Given the description of an element on the screen output the (x, y) to click on. 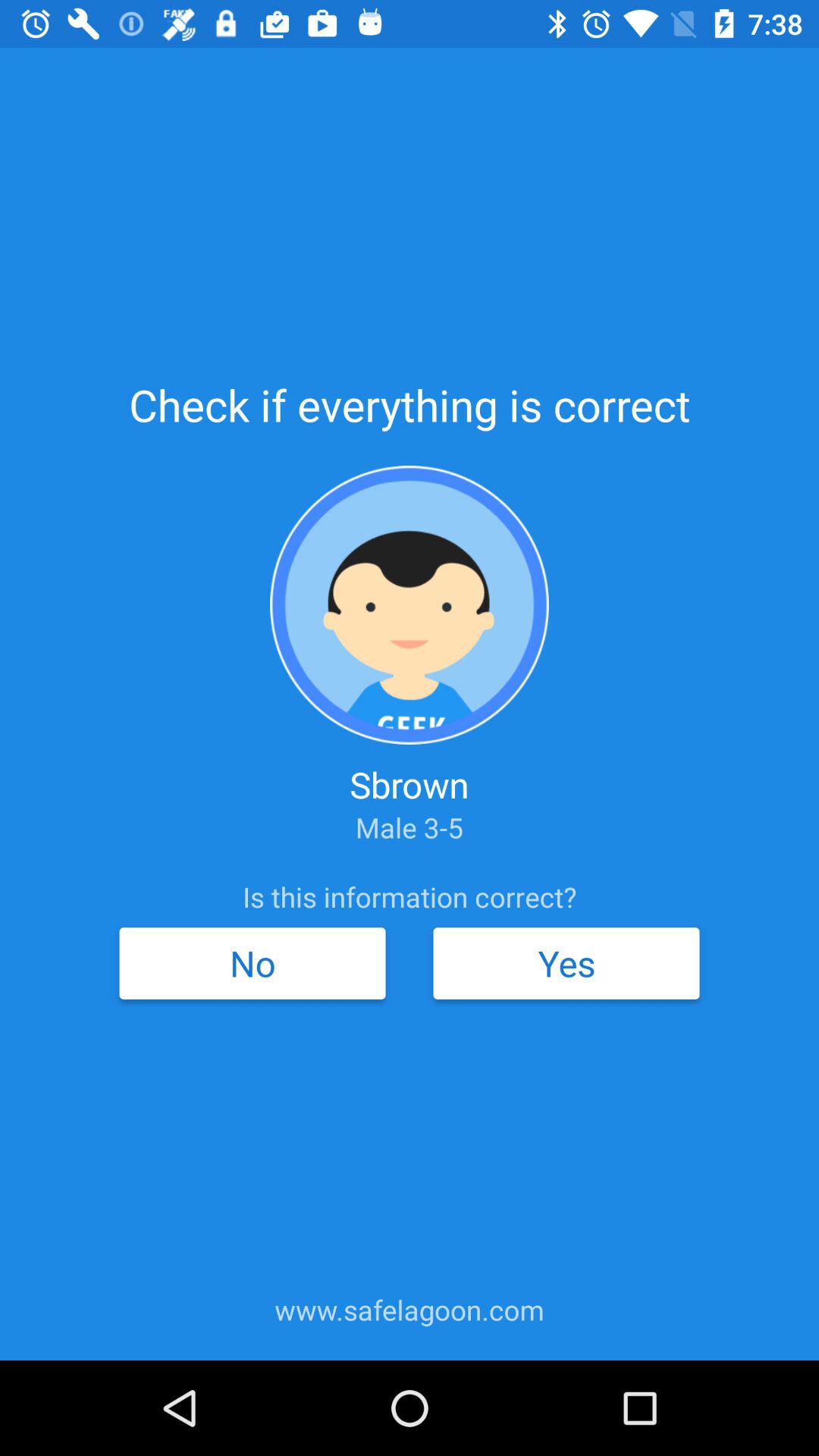
launch item next to no (566, 963)
